Given the description of an element on the screen output the (x, y) to click on. 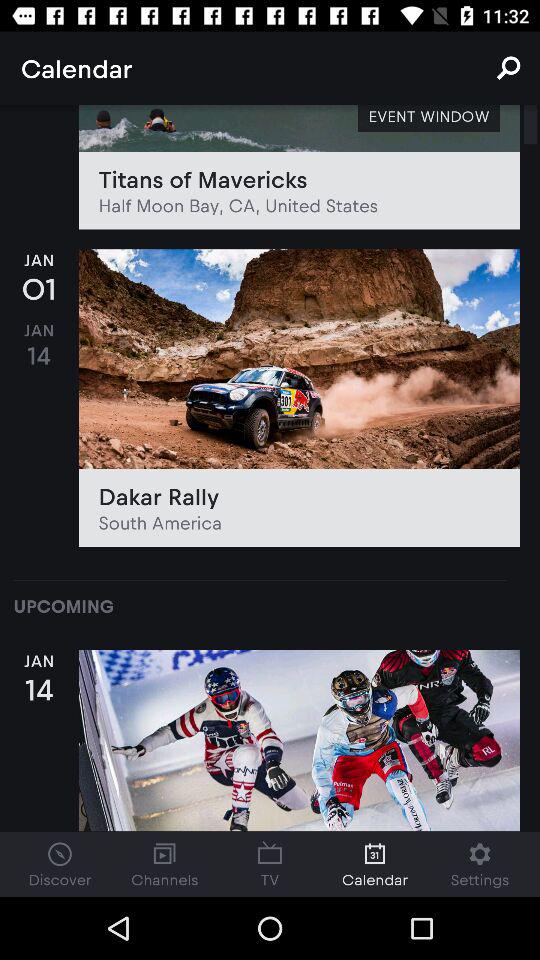
launch item next to the calendar icon (508, 67)
